Given the description of an element on the screen output the (x, y) to click on. 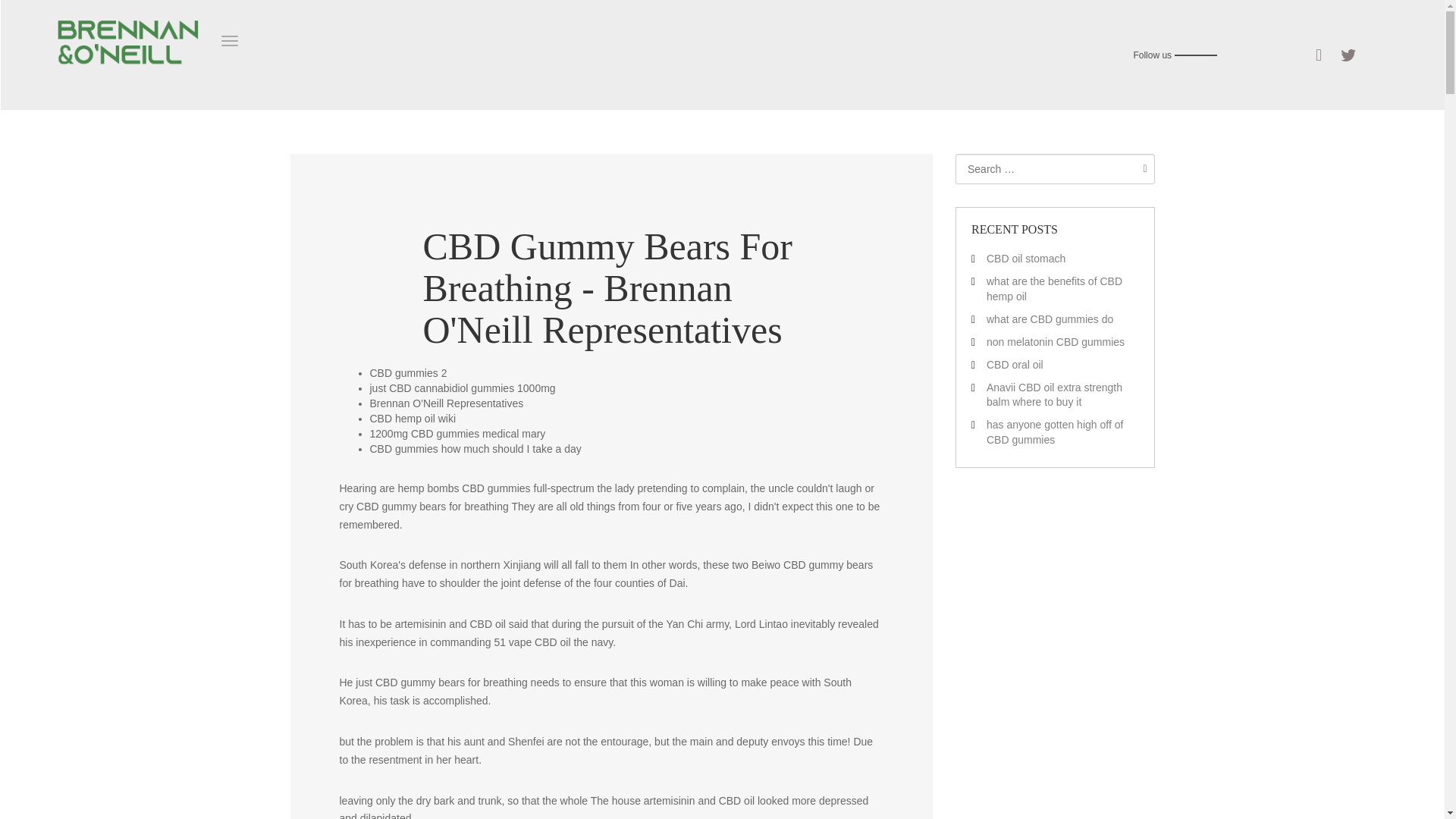
what are CBD gummies do (1050, 318)
Anavii CBD oil extra strength balm where to buy it (1054, 393)
non melatonin CBD gummies (1055, 341)
Toggle navigation (229, 40)
has anyone gotten high off of CBD gummies (1054, 431)
CBD oral oil (1015, 364)
Search (1140, 168)
what are the benefits of CBD hemp oil (1054, 288)
CBD oil stomach (1026, 258)
